Given the description of an element on the screen output the (x, y) to click on. 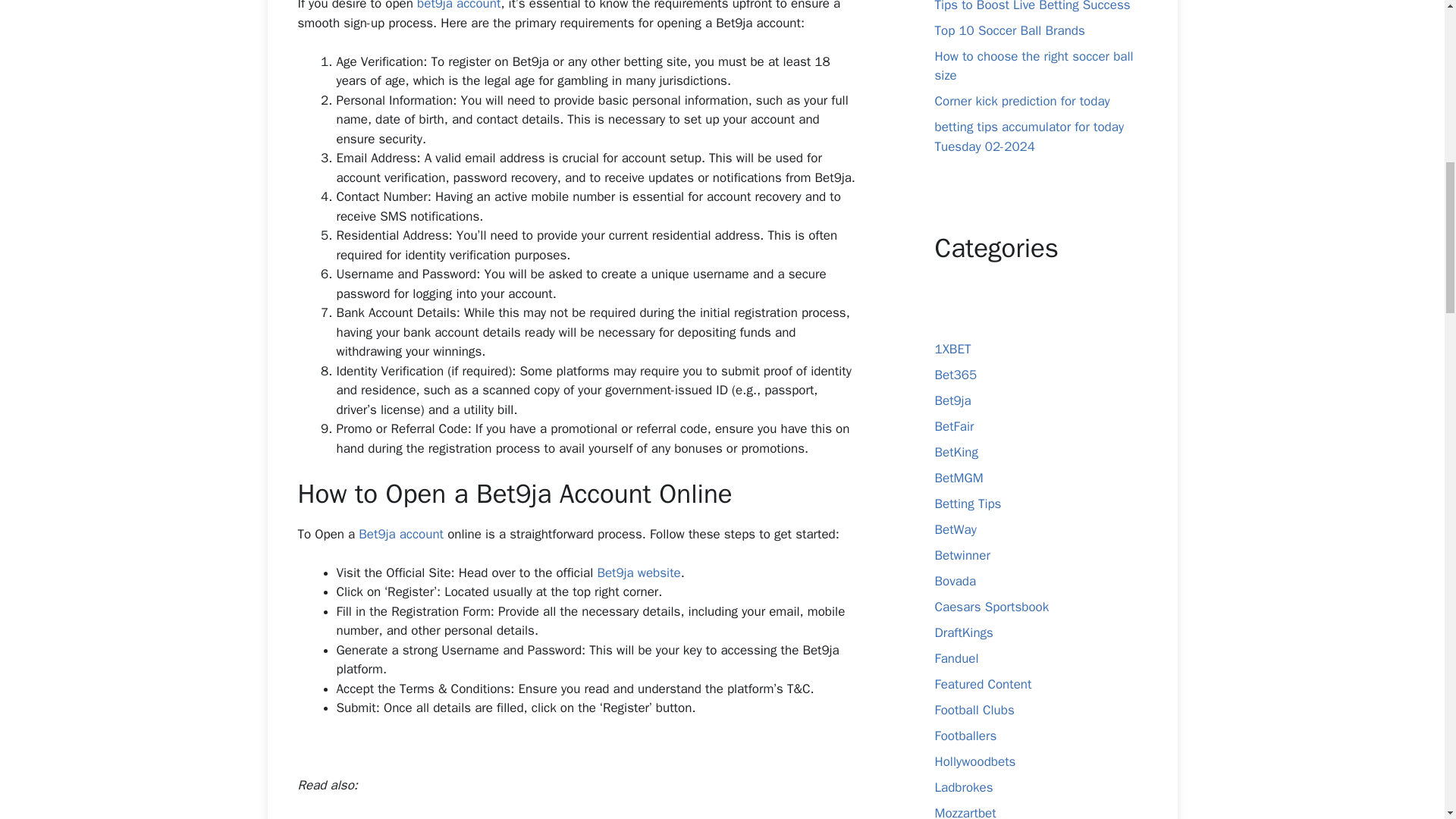
How To Play 2 To Come In Bet9ja Virtual (449, 817)
bet9ja account (458, 5)
Bet9ja website (637, 572)
Bet9ja account (401, 534)
